Given the description of an element on the screen output the (x, y) to click on. 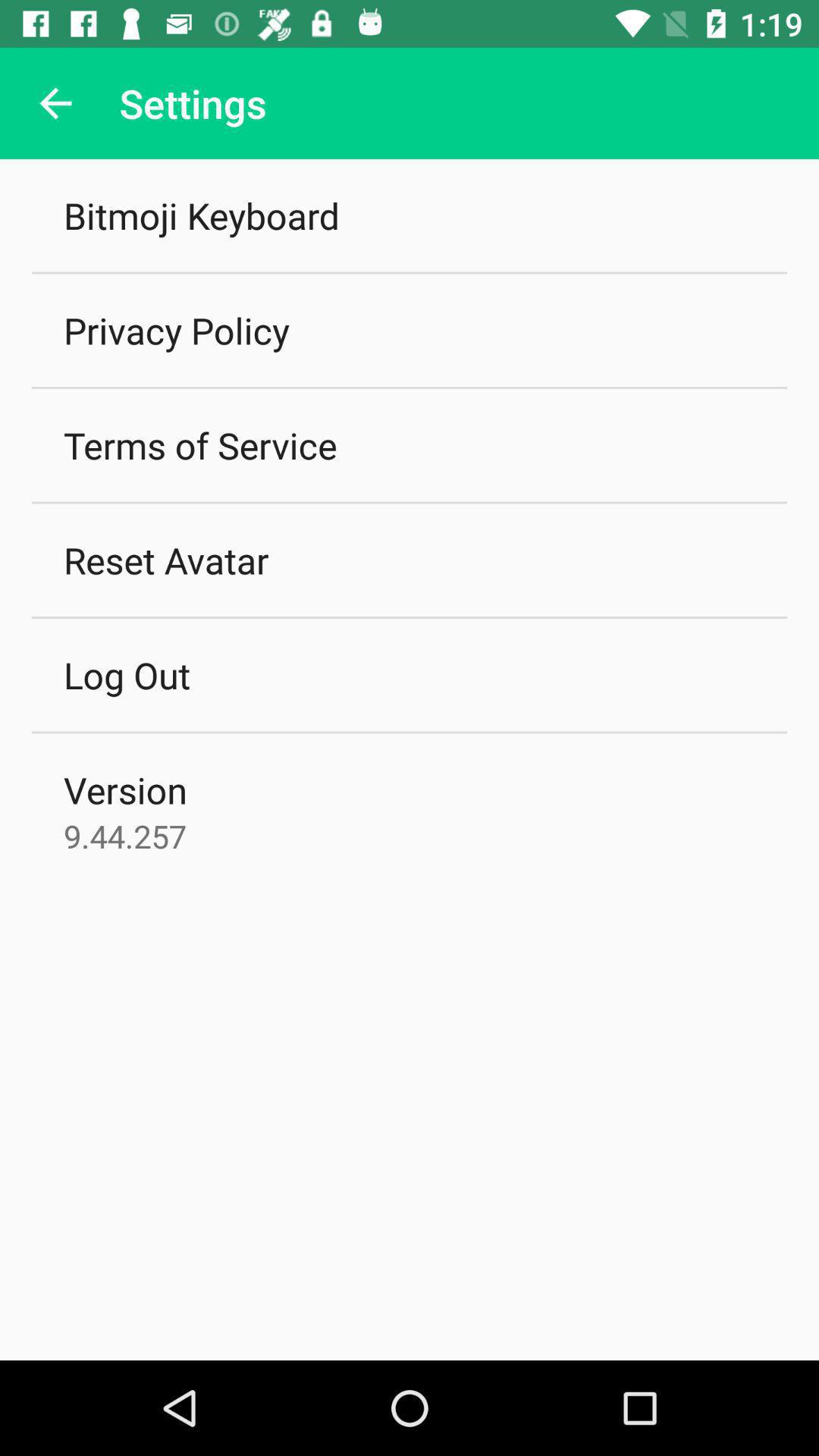
click the item above version item (126, 674)
